Given the description of an element on the screen output the (x, y) to click on. 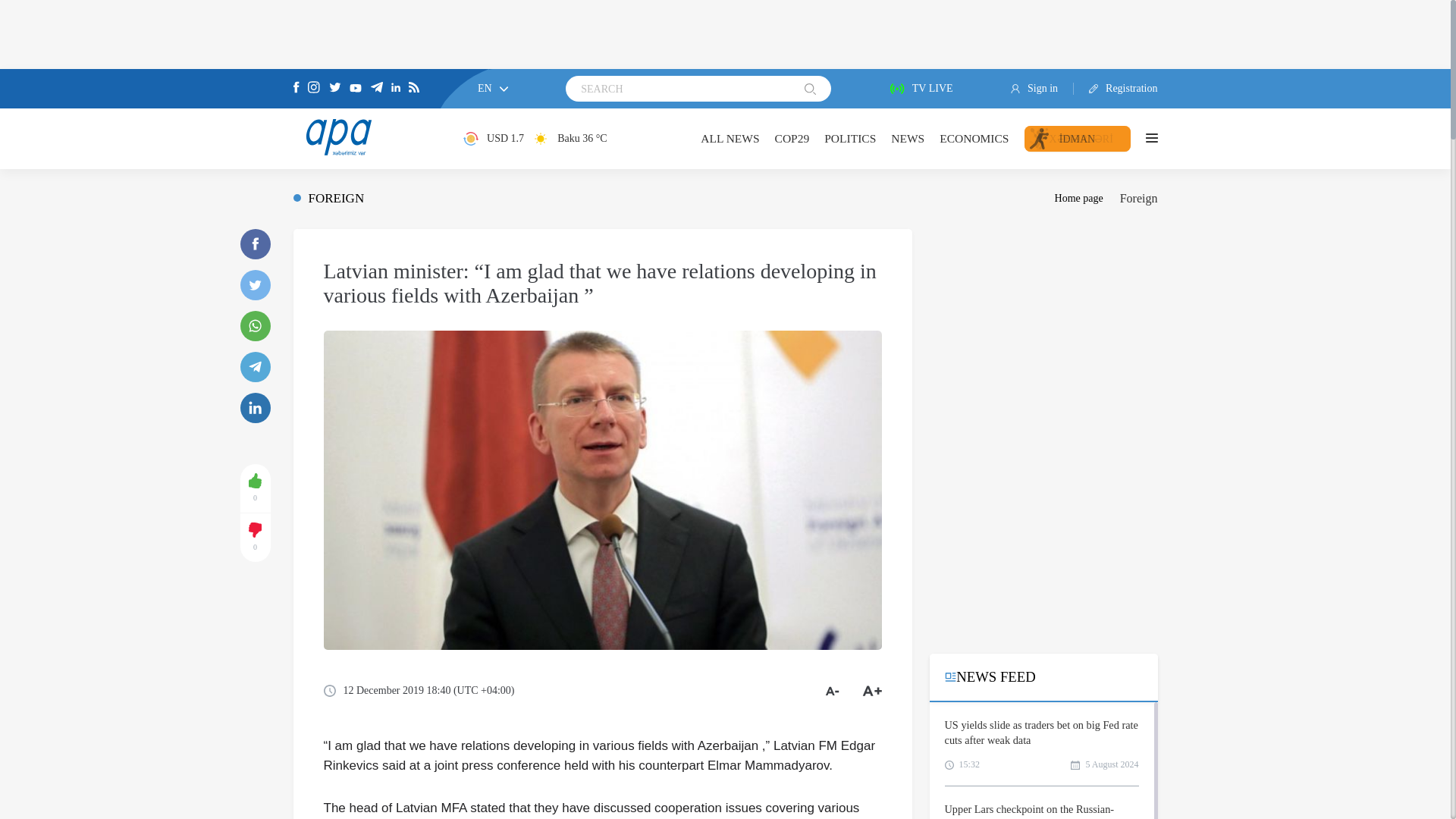
COP29 (791, 138)
NEWS (907, 138)
Sign in (1042, 88)
ECONOMICS (974, 138)
USD 1.7 (493, 138)
POLITICS (850, 138)
Registration (1115, 88)
TV LIVE (921, 88)
ALL NEWS (729, 138)
